Given the description of an element on the screen output the (x, y) to click on. 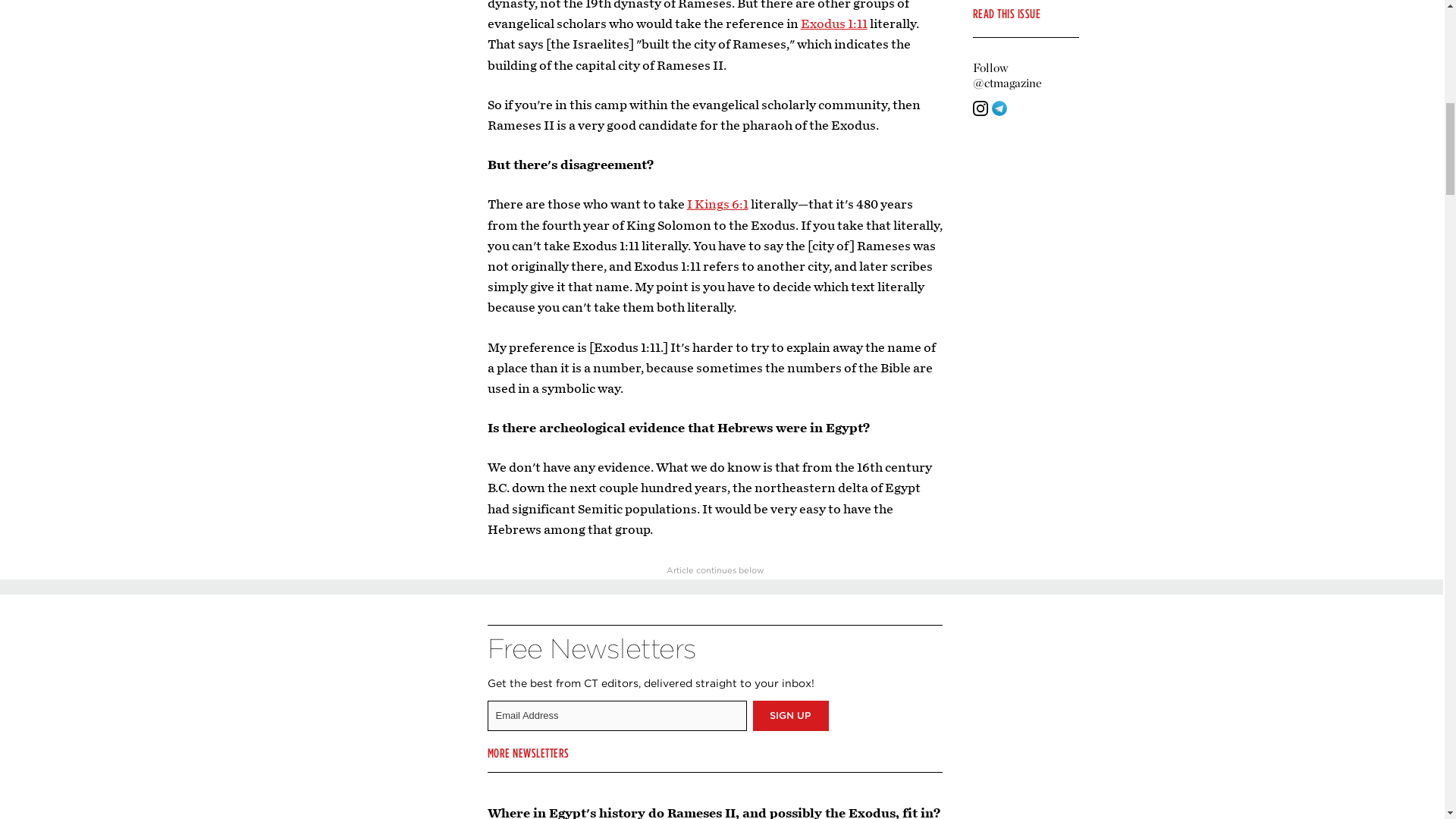
Sign Up (790, 716)
Email Address (615, 716)
